Given the description of an element on the screen output the (x, y) to click on. 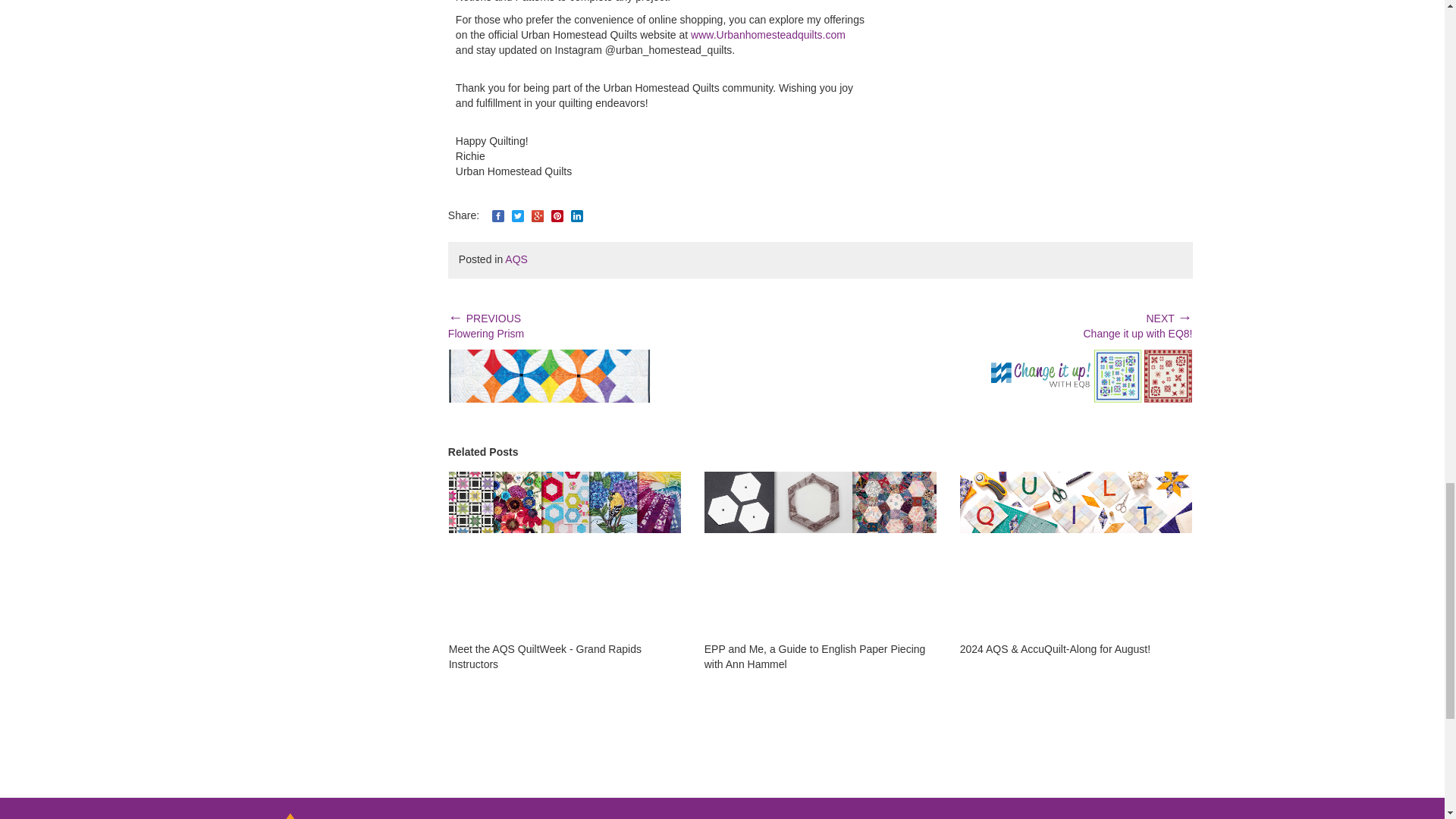
Flowering Prism (549, 375)
Change it up with EQ8! (1091, 375)
AQS (516, 259)
